Given the description of an element on the screen output the (x, y) to click on. 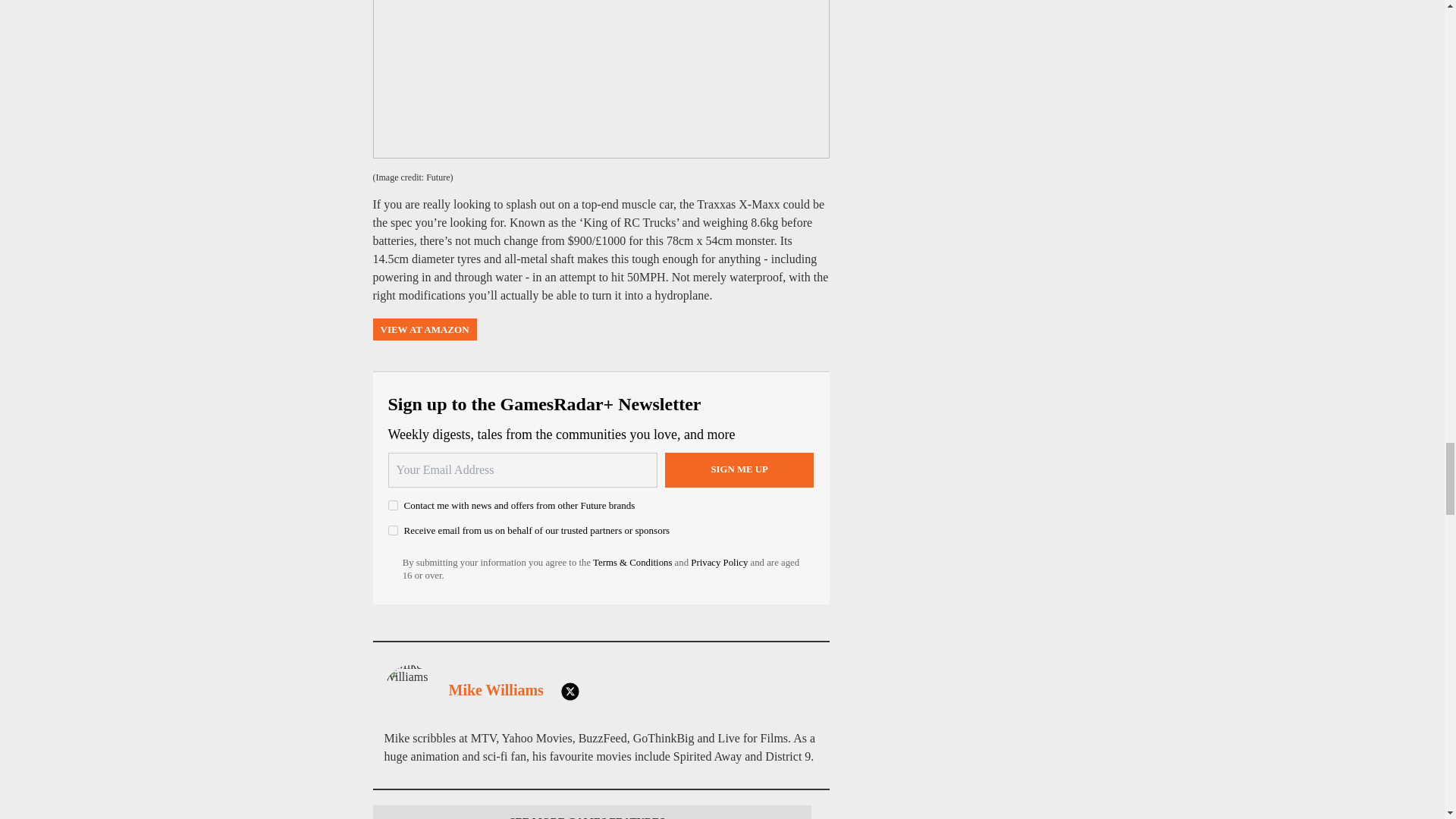
Sign me up (739, 469)
on (392, 505)
on (392, 530)
